Given the description of an element on the screen output the (x, y) to click on. 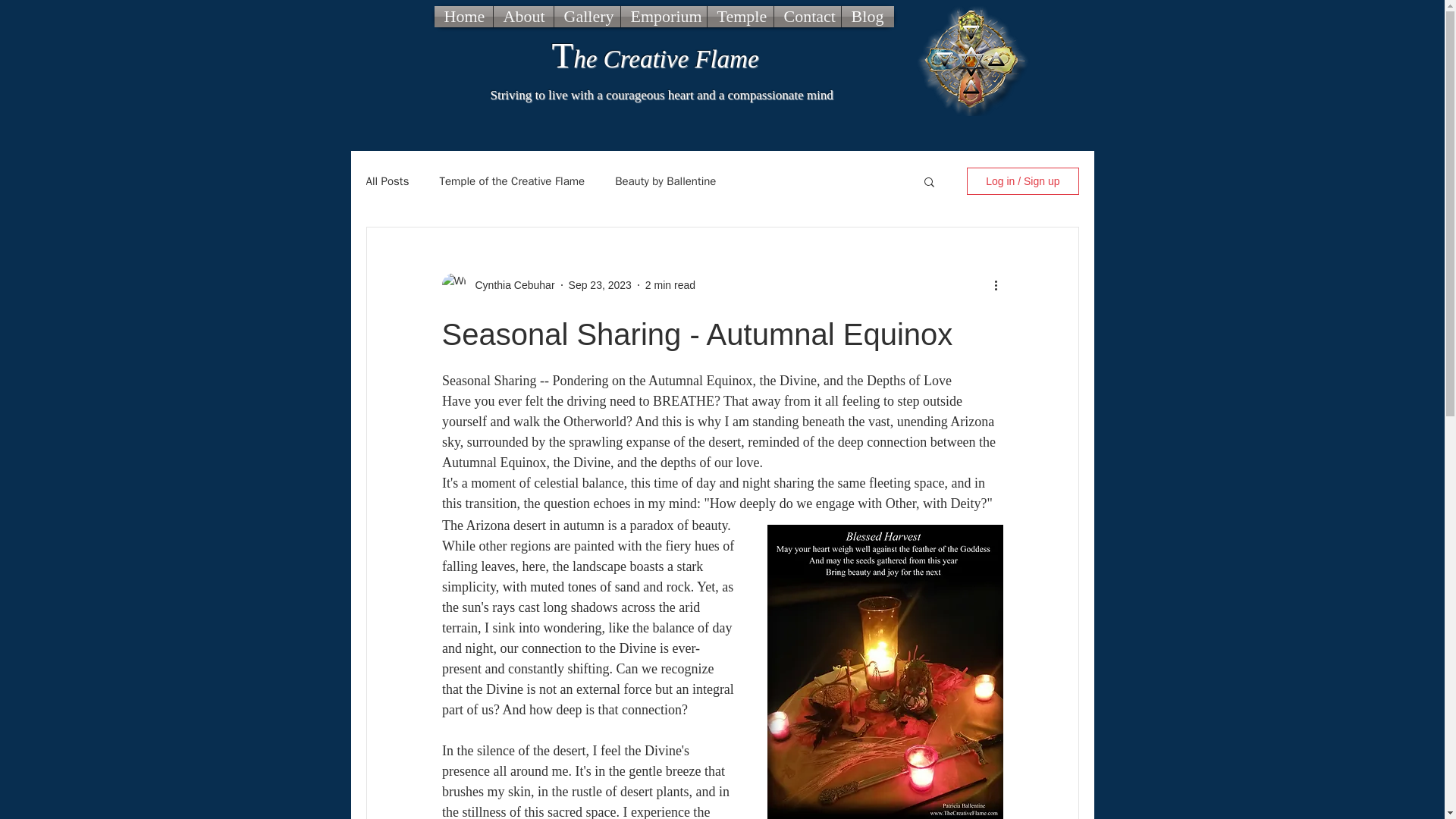
Home (462, 16)
Temple (739, 16)
Emporium (663, 16)
Cynthia Cebuhar (509, 285)
Blog (867, 16)
Gallery (586, 16)
2 min read (670, 285)
Sep 23, 2023 (600, 285)
Temple of the Creative Flame (512, 181)
About (523, 16)
Beauty by Ballentine (665, 181)
All Posts (387, 181)
Contact (806, 16)
